Given the description of an element on the screen output the (x, y) to click on. 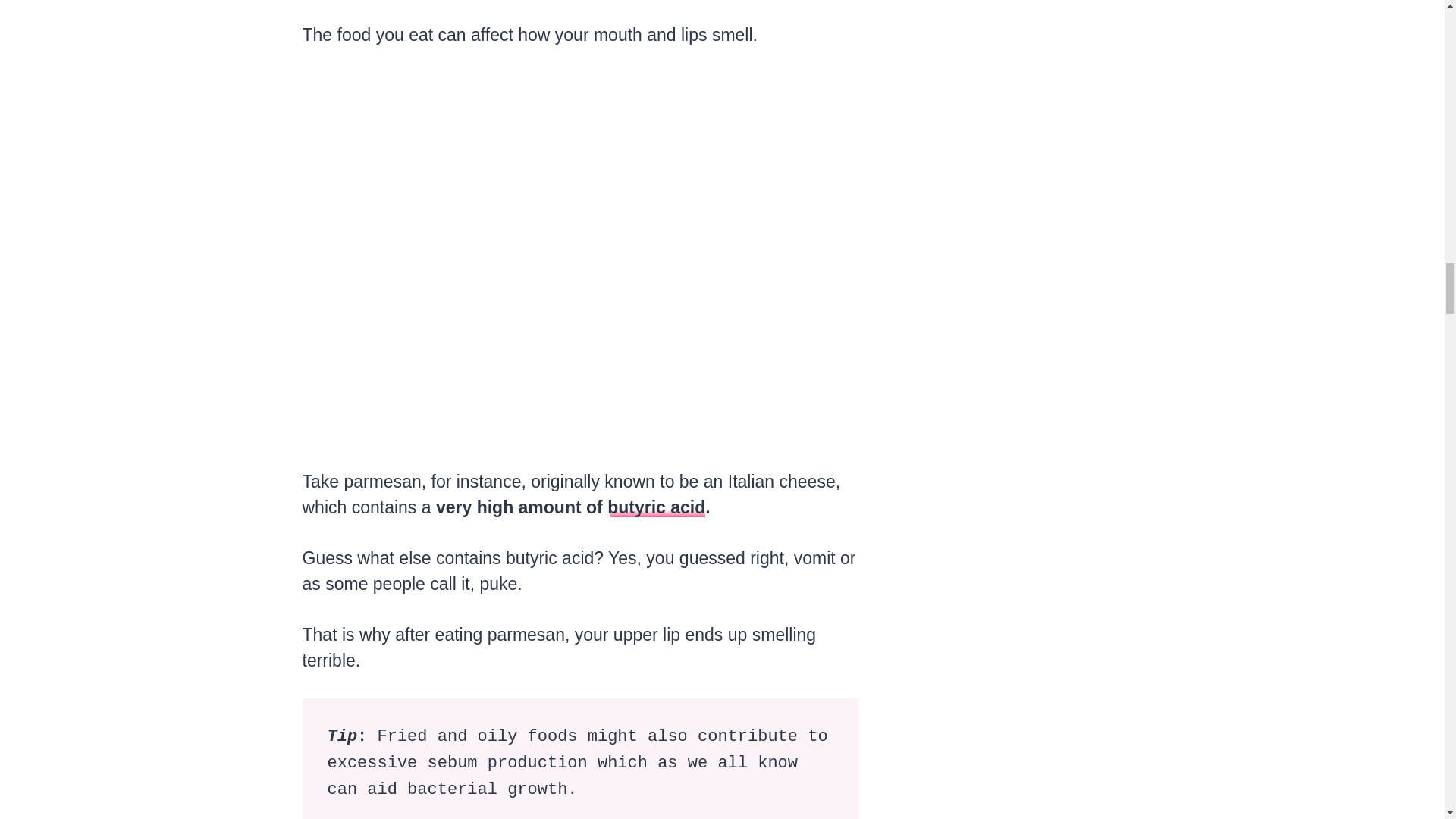
butyric acid (655, 506)
